Given the description of an element on the screen output the (x, y) to click on. 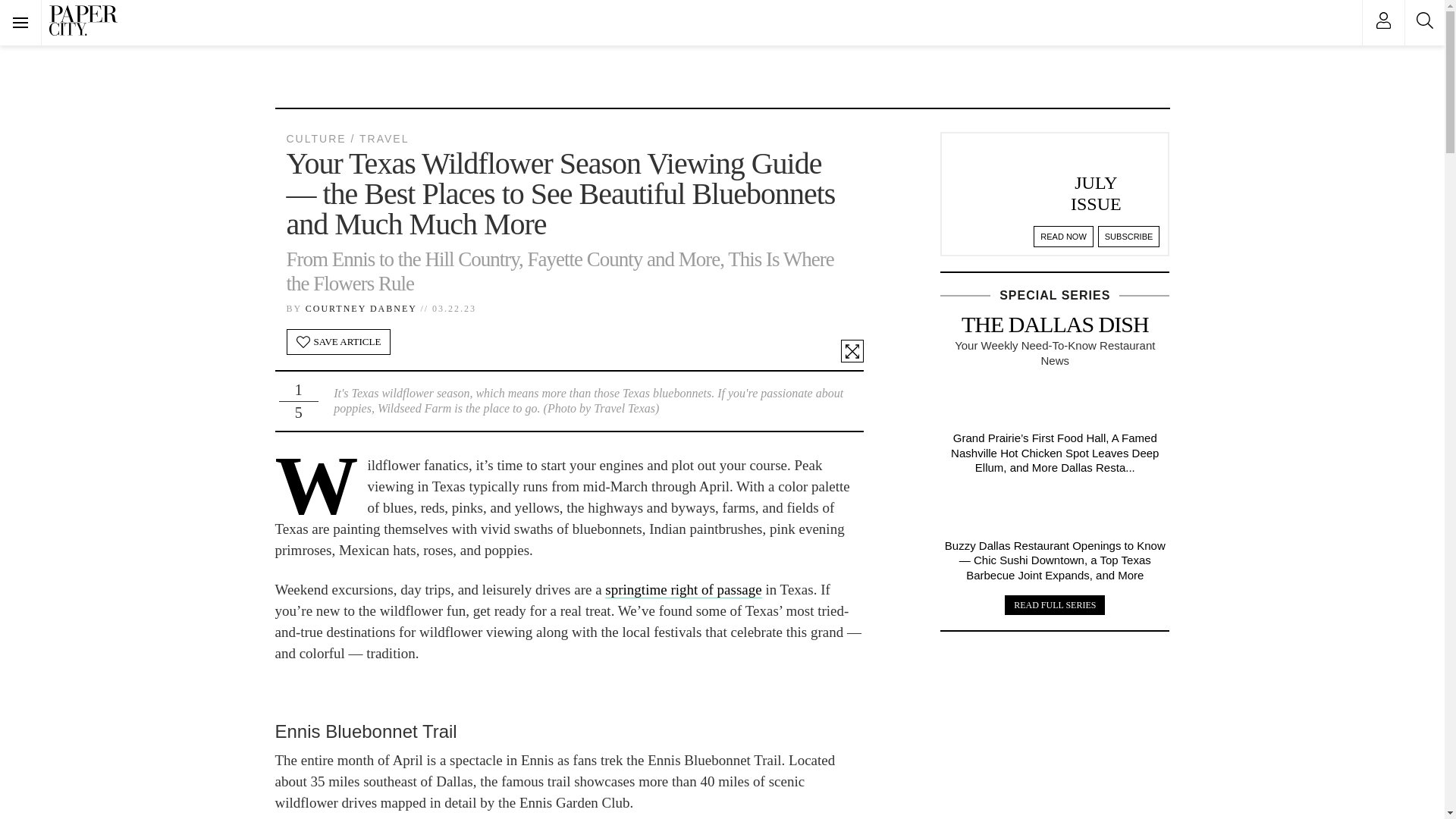
PaperCity Magazine (83, 20)
